Given the description of an element on the screen output the (x, y) to click on. 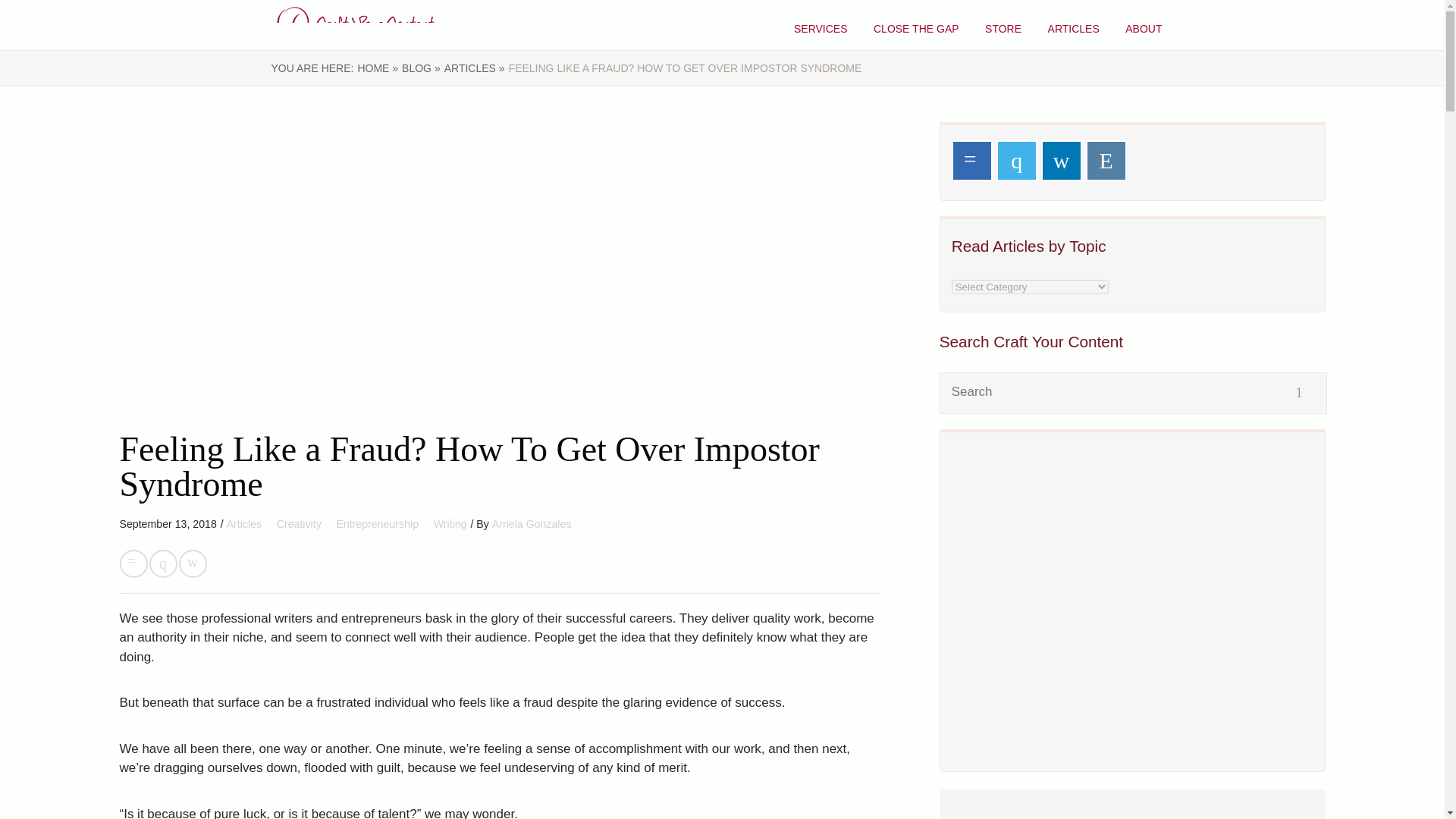
ARTICLES (1073, 28)
SERVICES (820, 28)
Entrepreneurship (379, 523)
Arnela Gonzales (532, 523)
Writing (450, 523)
STORE (1003, 28)
ABOUT (1143, 28)
Articles (245, 523)
Creativity (300, 523)
CLOSE THE GAP (916, 28)
